Given the description of an element on the screen output the (x, y) to click on. 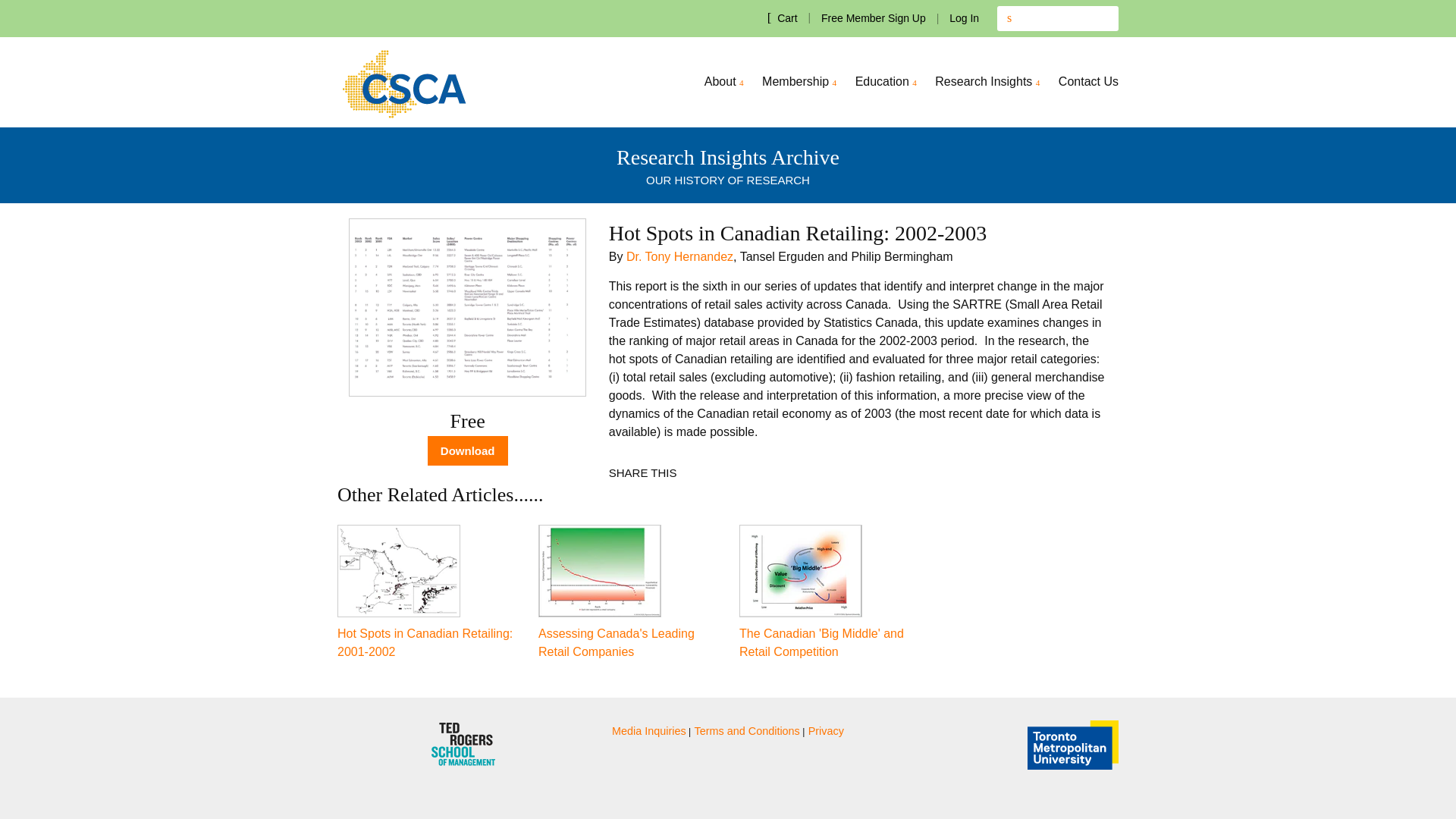
Log In (963, 18)
Research Insights (986, 81)
About (724, 81)
Cart (782, 17)
Search (1009, 18)
Free Member Sign Up (873, 18)
Education (885, 81)
Membership (799, 81)
